Given the description of an element on the screen output the (x, y) to click on. 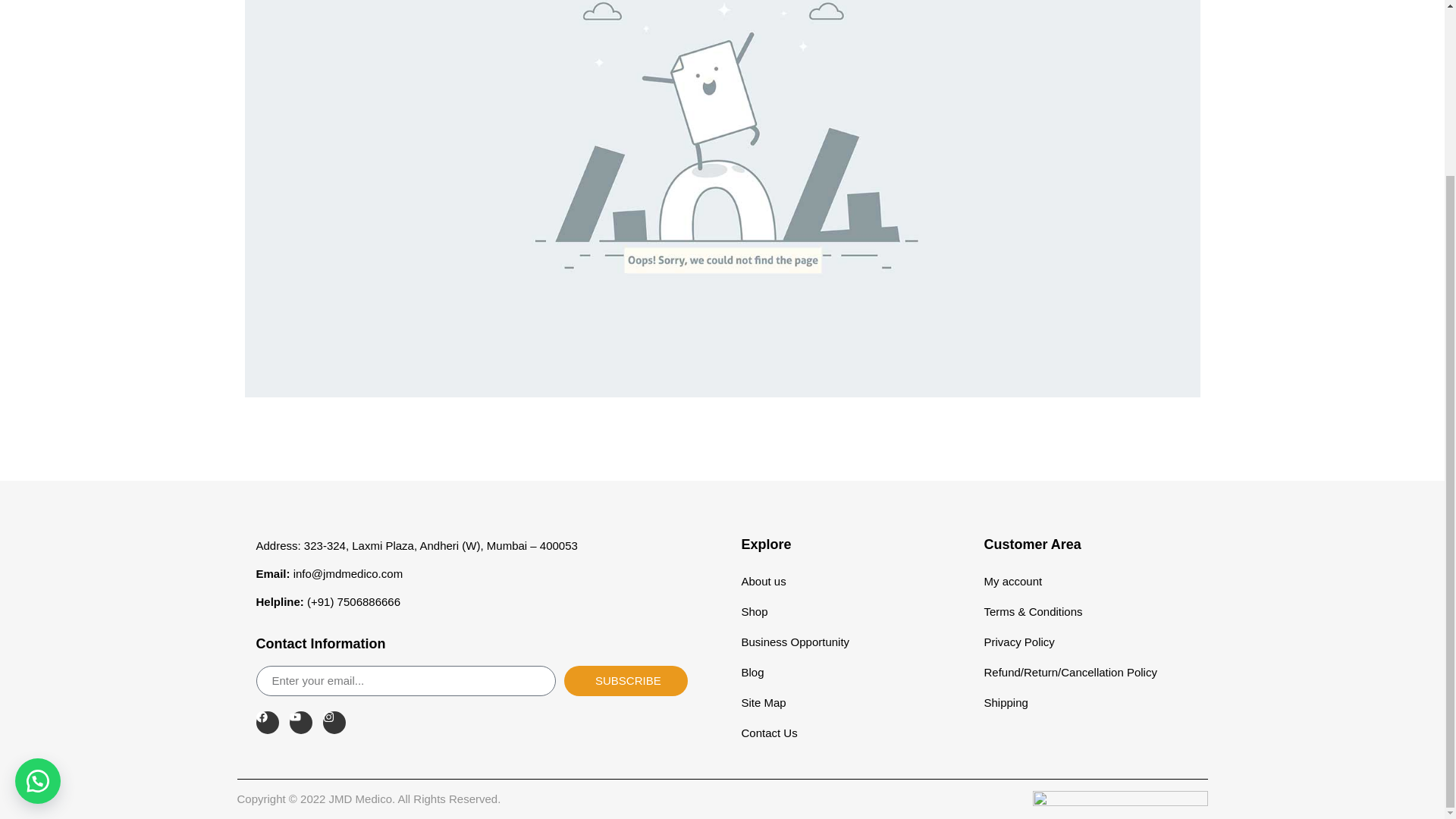
SUBSCRIBE (625, 680)
About us (843, 581)
Shop (843, 612)
